Given the description of an element on the screen output the (x, y) to click on. 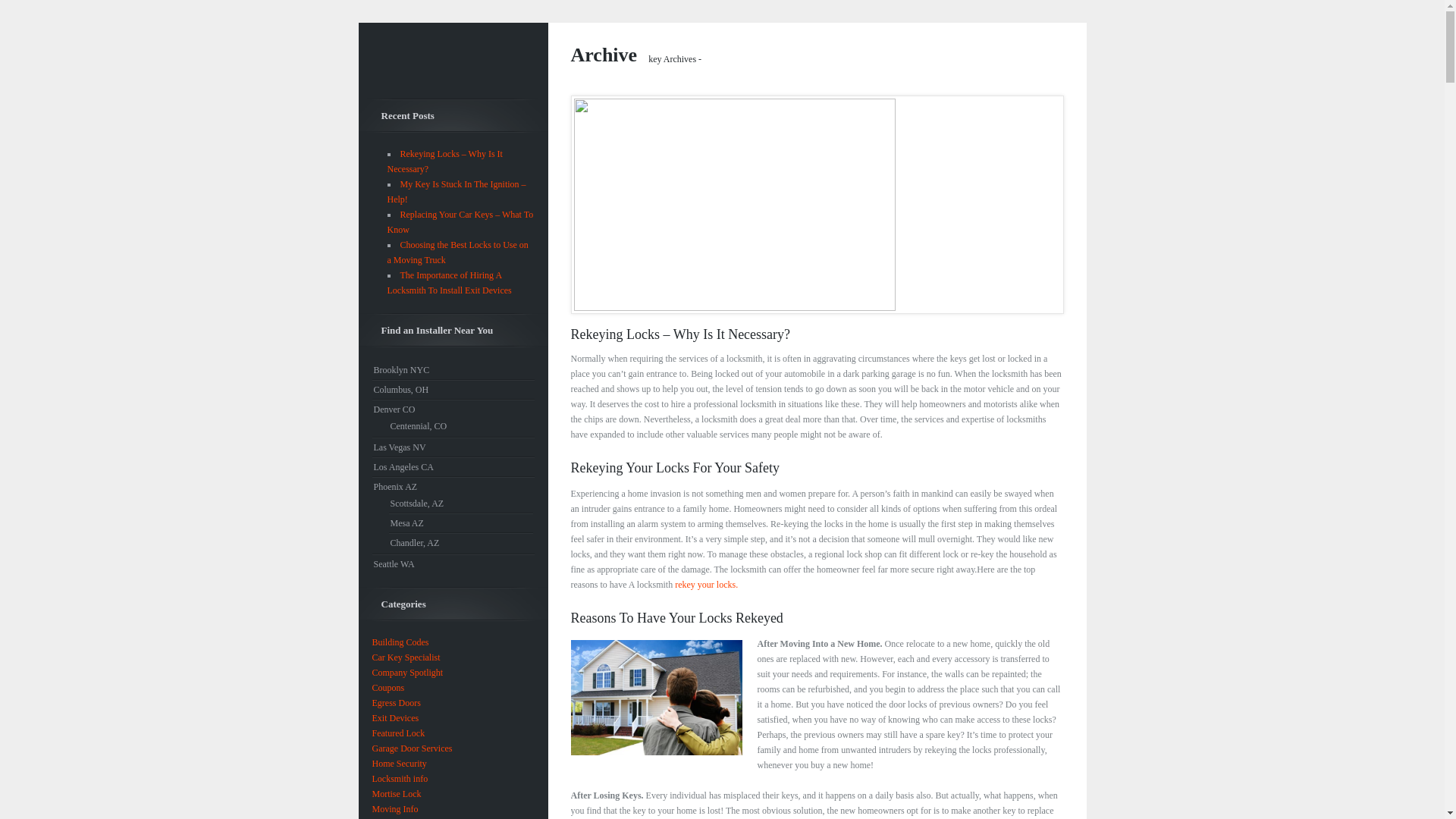
rekey your locks. (706, 584)
